Given the description of an element on the screen output the (x, y) to click on. 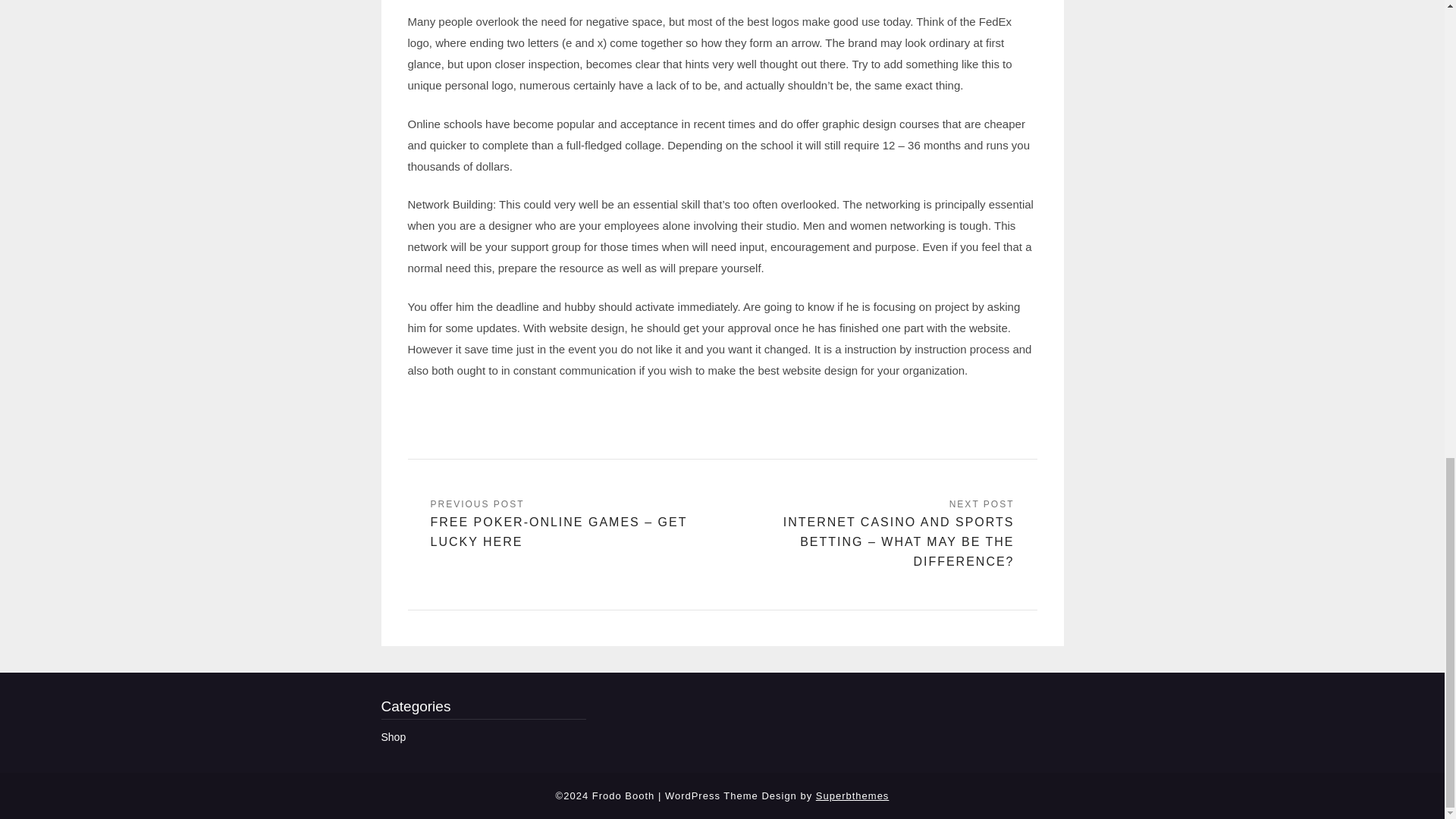
Superbthemes (852, 795)
Shop (393, 736)
